Given the description of an element on the screen output the (x, y) to click on. 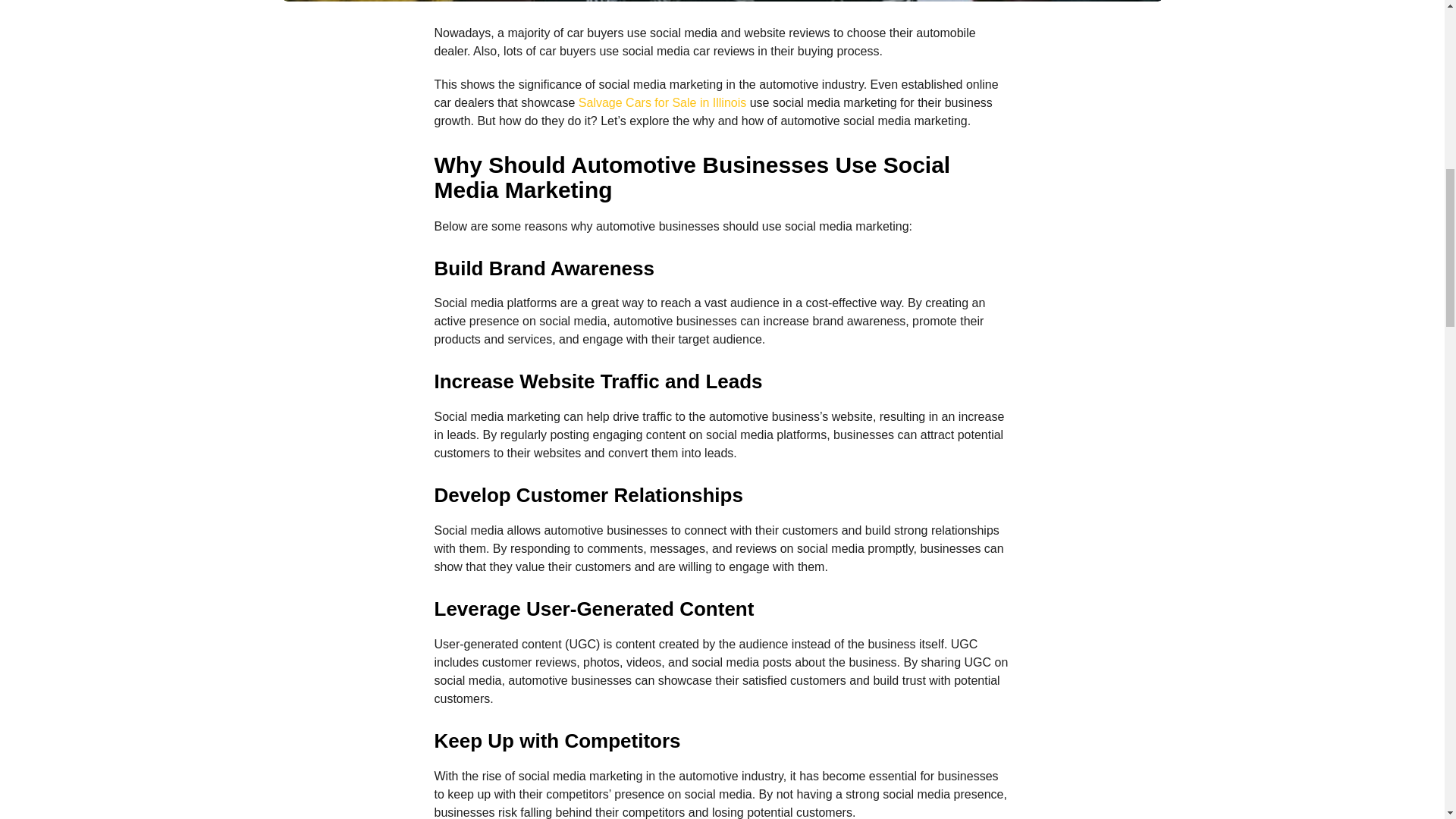
Salvage Cars for Sale in Illinois (661, 102)
